Given the description of an element on the screen output the (x, y) to click on. 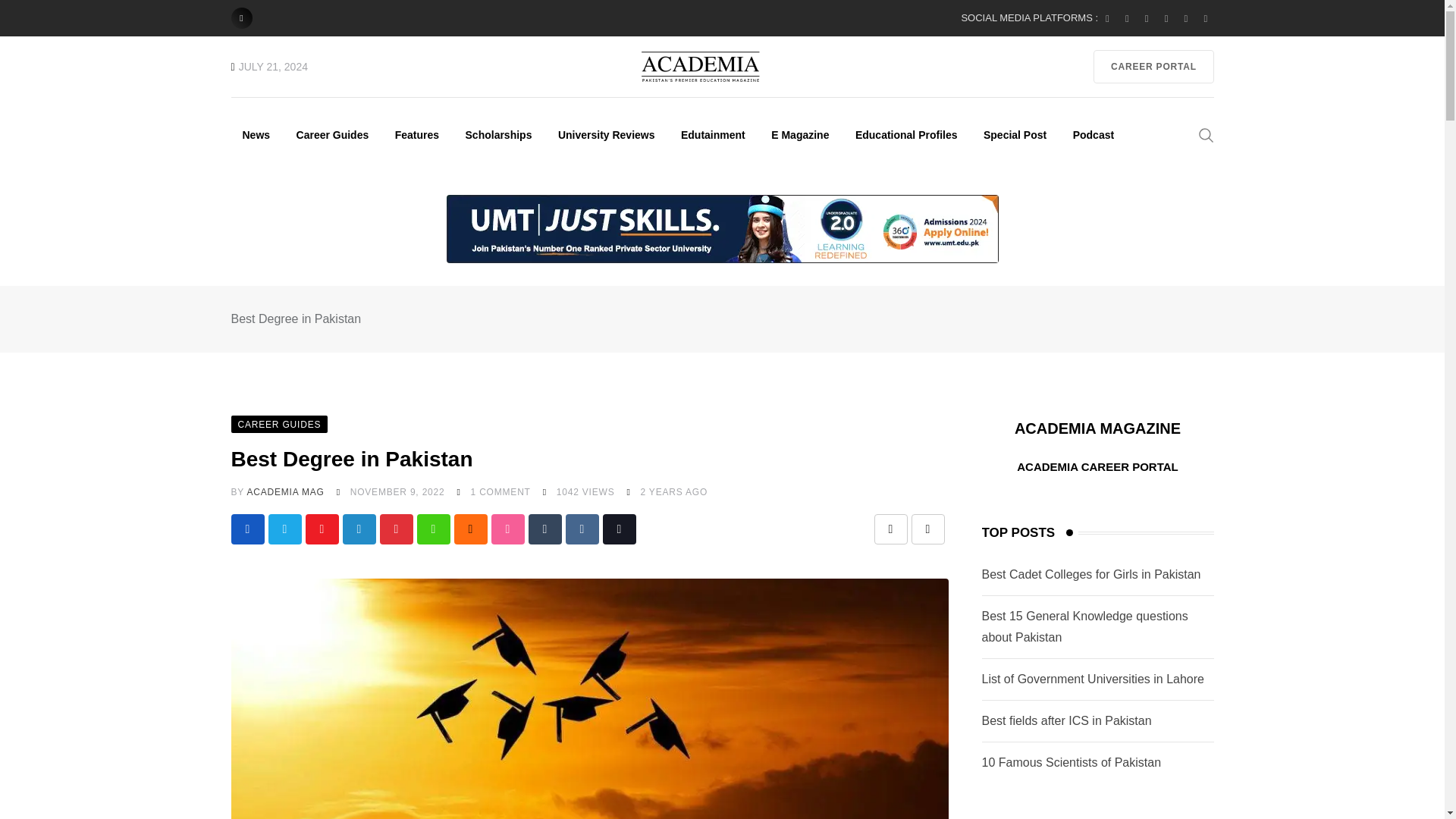
Search (1205, 134)
University Reviews (606, 134)
Posts by Academia Mag (284, 491)
CAREER PORTAL (1153, 66)
Special Post (1015, 134)
Features (416, 134)
E Magazine (800, 134)
Career Guides (332, 134)
Edutainment (713, 134)
Educational Profiles (906, 134)
Scholarships (498, 134)
